Given the description of an element on the screen output the (x, y) to click on. 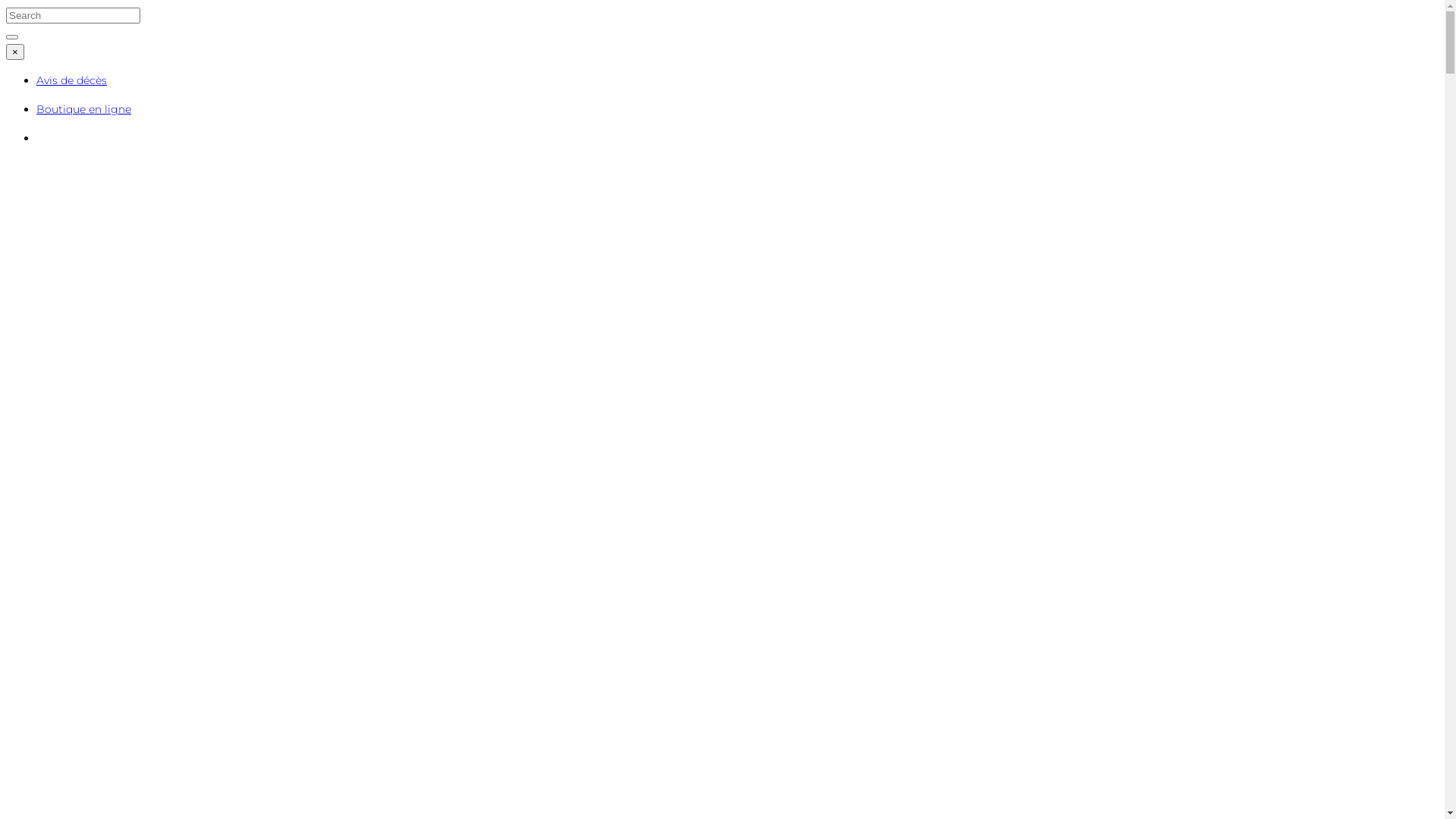
Boutique en ligne Element type: text (83, 109)
Search Element type: text (12, 36)
Search for: Element type: hover (73, 15)
